Given the description of an element on the screen output the (x, y) to click on. 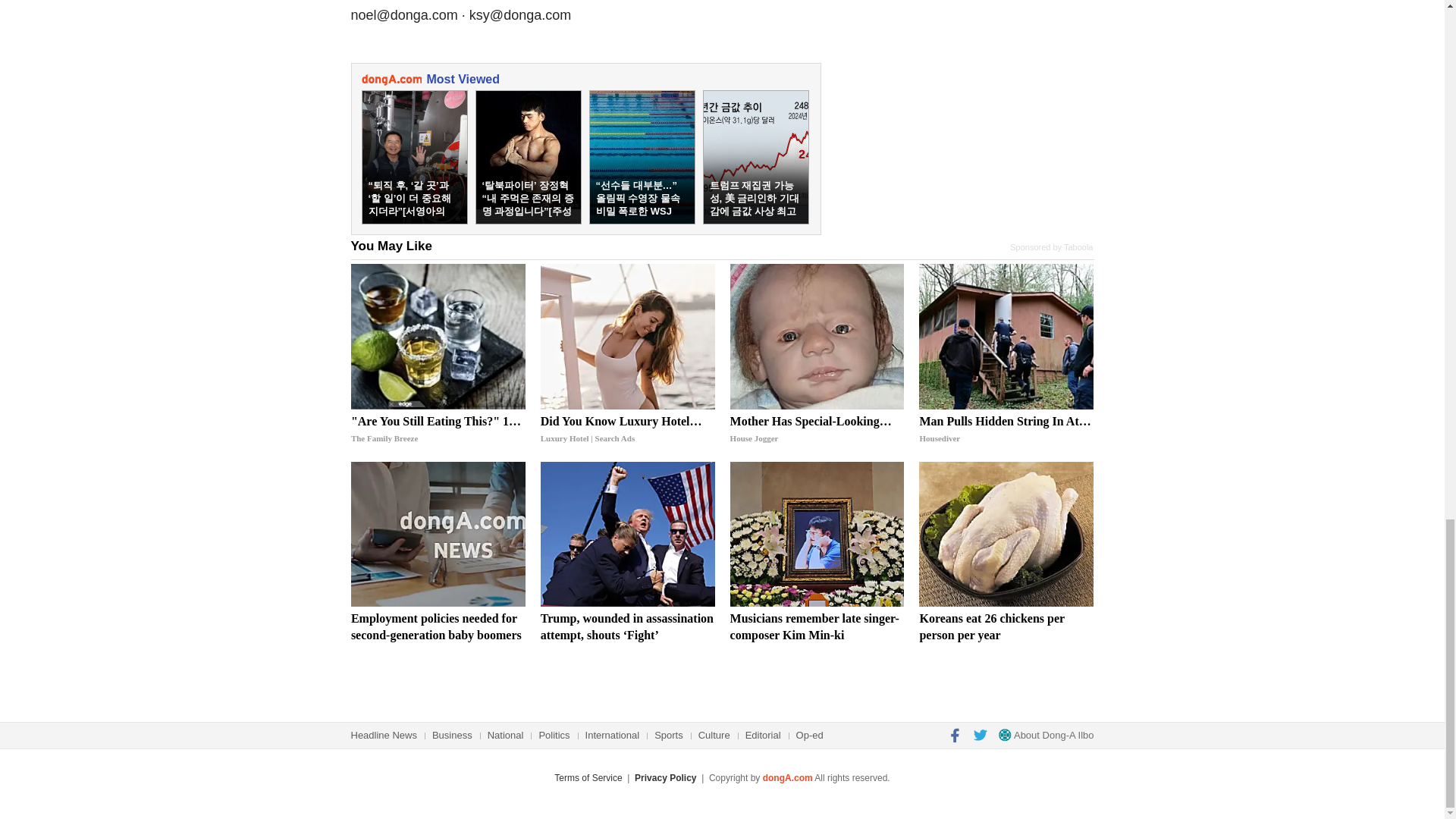
Did You Know Luxury Hotel Prices in 2023 Could Be so Low? (627, 336)
Did You Know Luxury Hotel Prices in 2023 Could Be so Low? (627, 429)
